Given the description of an element on the screen output the (x, y) to click on. 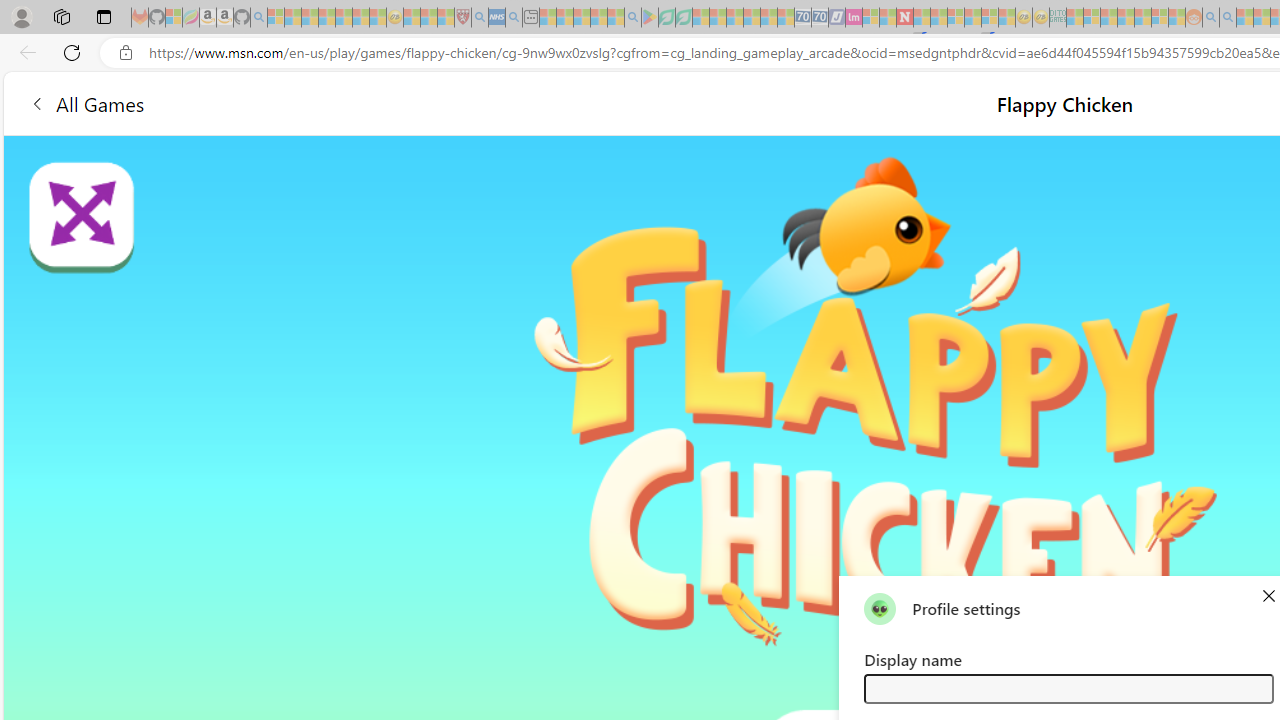
""'s avatar (880, 608)
